Given the description of an element on the screen output the (x, y) to click on. 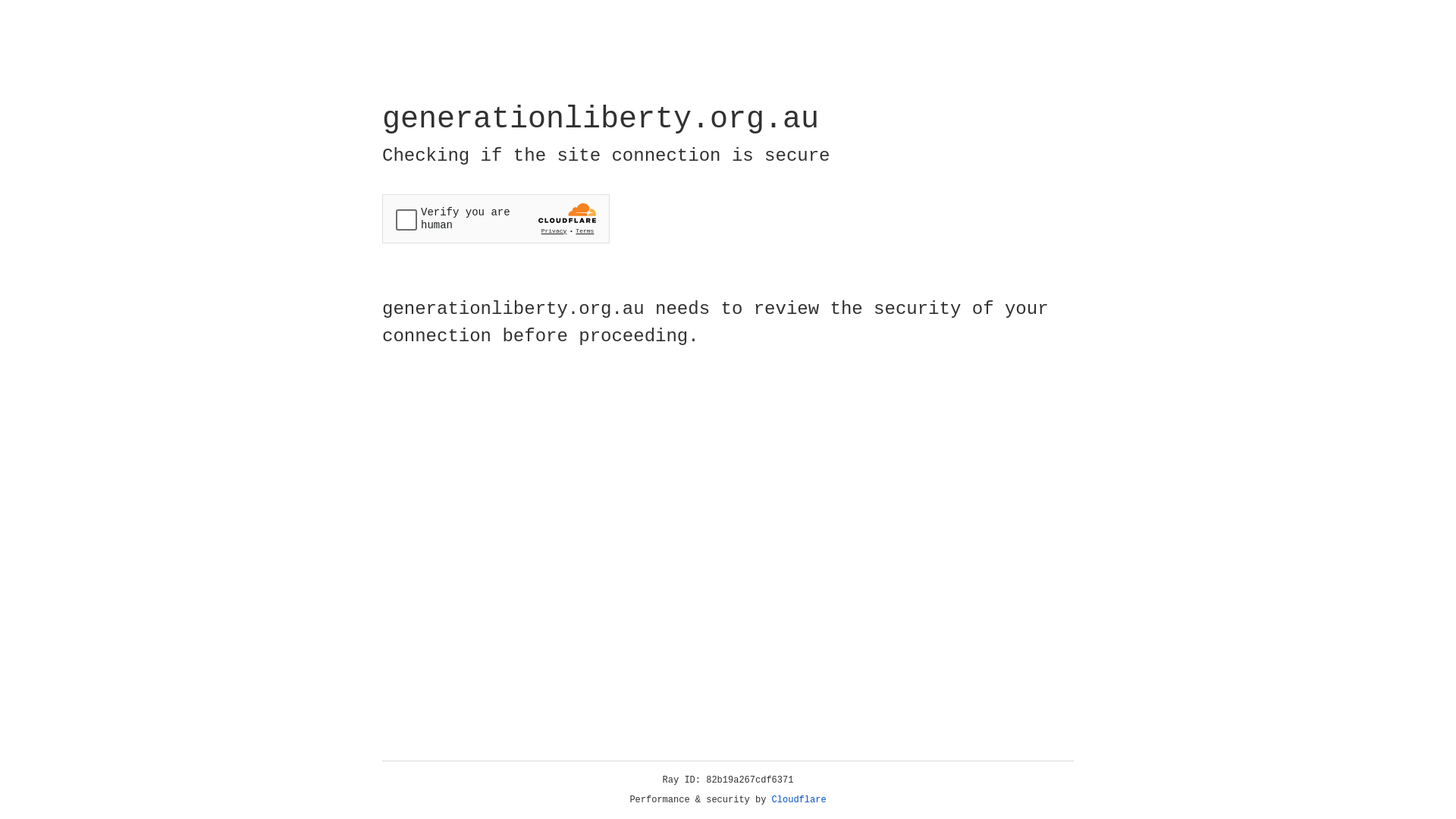
Widget containing a Cloudflare security challenge Element type: hover (495, 218)
Cloudflare Element type: text (798, 799)
